Given the description of an element on the screen output the (x, y) to click on. 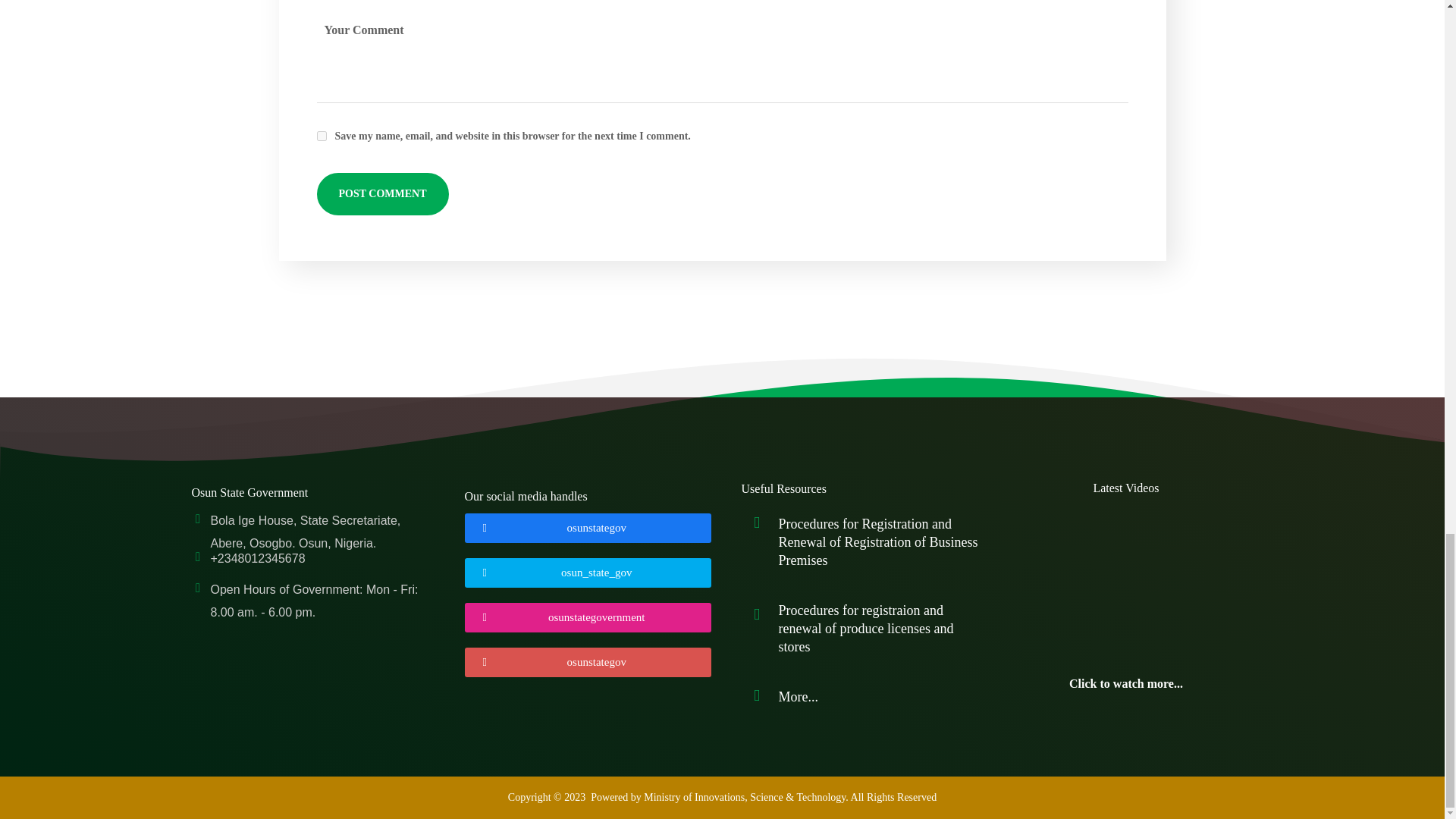
yes (321, 135)
Post Comment (382, 193)
